Given the description of an element on the screen output the (x, y) to click on. 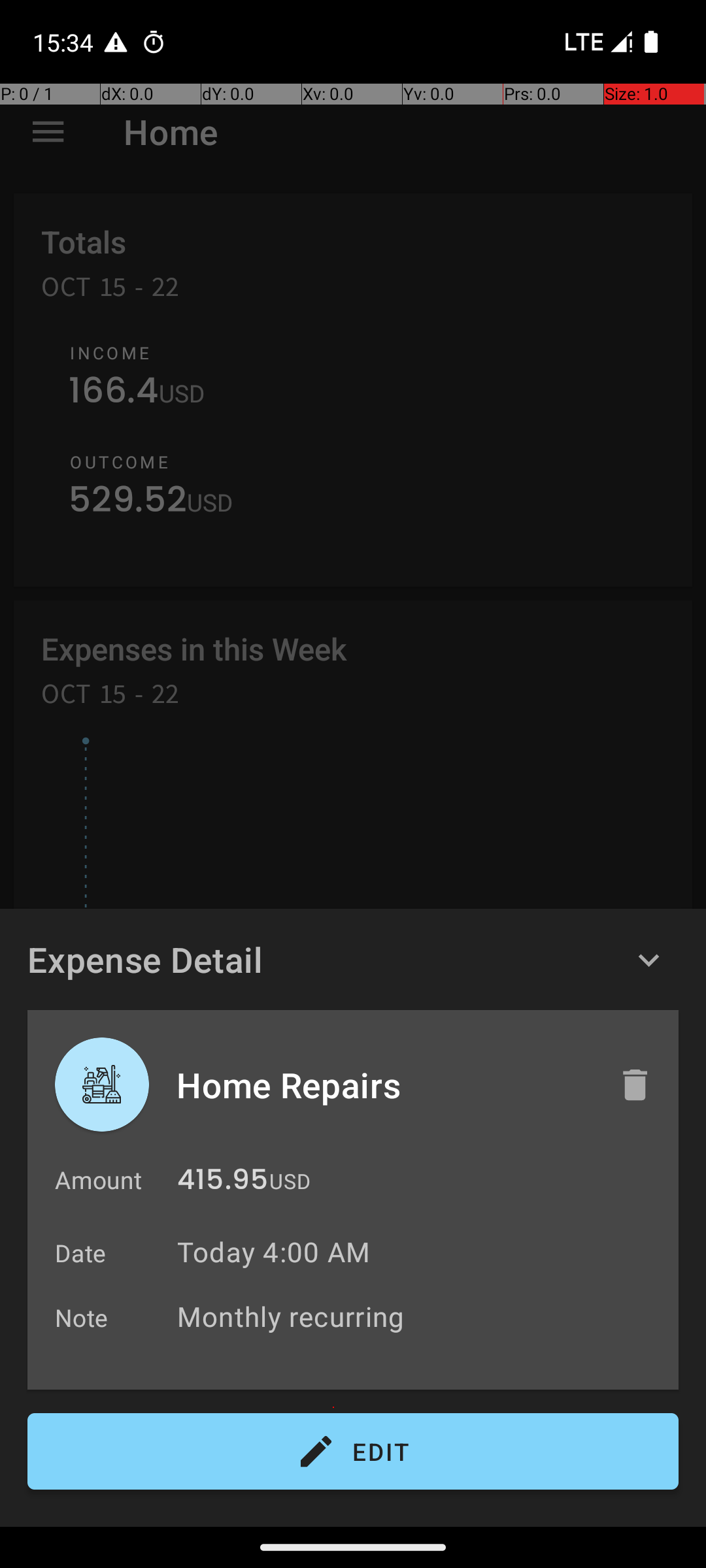
Home Repairs Element type: android.widget.TextView (383, 1084)
415.95 Element type: android.widget.TextView (222, 1182)
Today 4:00 AM Element type: android.widget.TextView (273, 1251)
Monthly recurring Element type: android.widget.TextView (420, 1315)
